Given the description of an element on the screen output the (x, y) to click on. 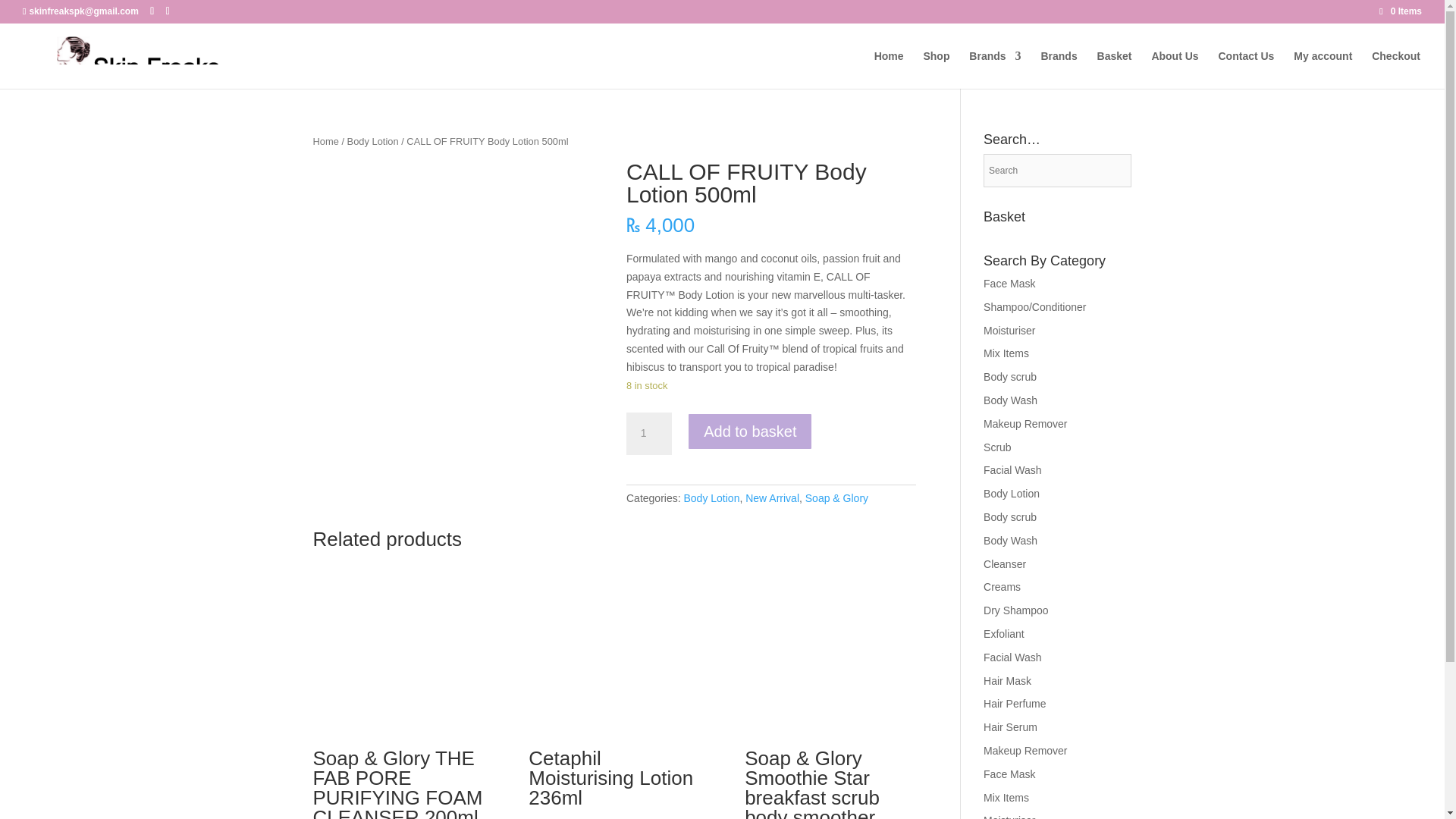
Brands (994, 69)
1 (648, 433)
0 Items (1400, 10)
